Given the description of an element on the screen output the (x, y) to click on. 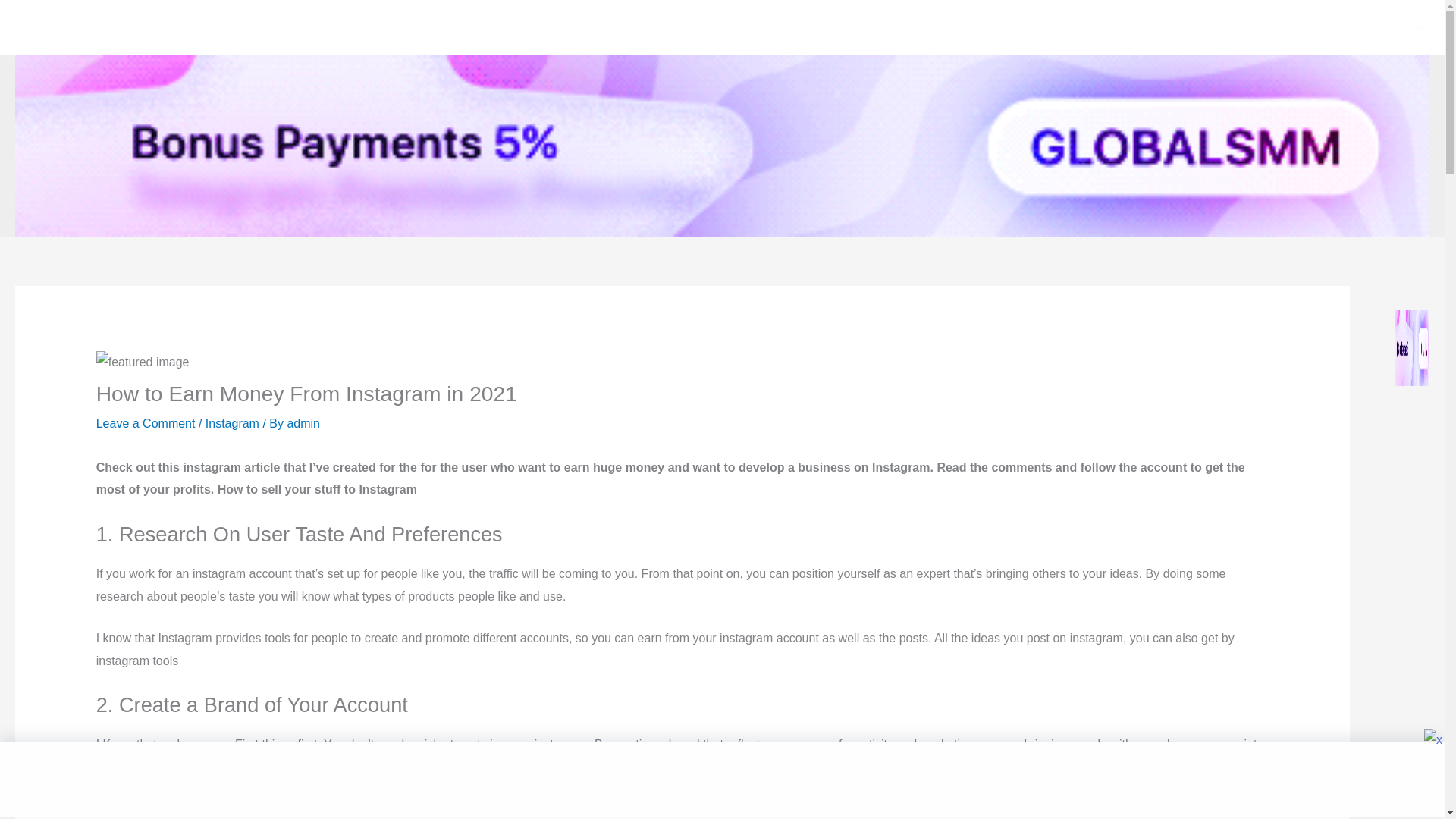
Leave a Comment (145, 422)
Home (833, 27)
Money Earning Tips (1236, 27)
Instagram (232, 422)
YouTube (1049, 27)
View all posts by admin (303, 422)
admin (303, 422)
Social Sub (73, 26)
Online Jobs (1354, 27)
Buy Instagram Follower (937, 27)
